Given the description of an element on the screen output the (x, y) to click on. 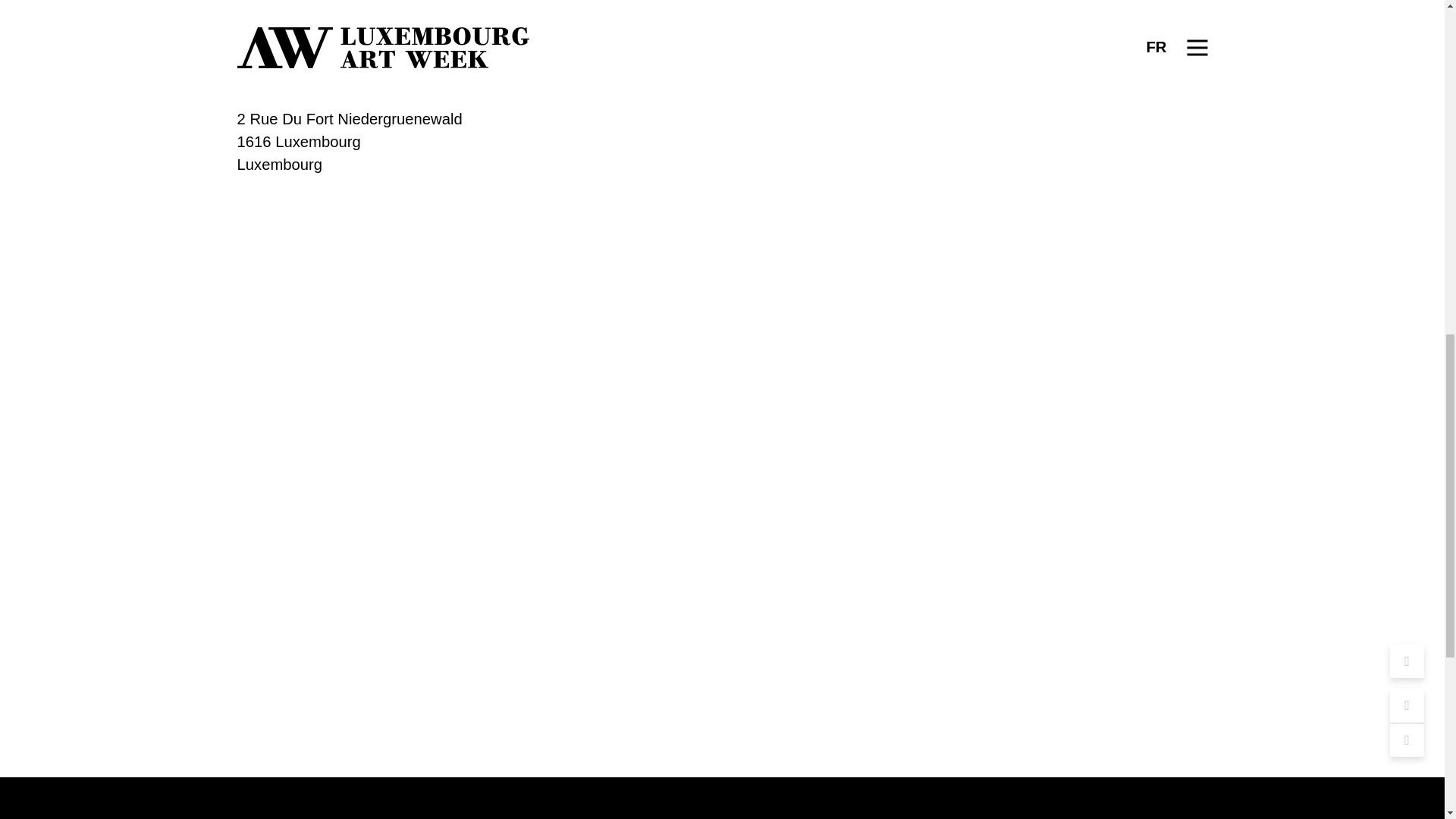
www.mamashelter.com (314, 72)
